Given the description of an element on the screen output the (x, y) to click on. 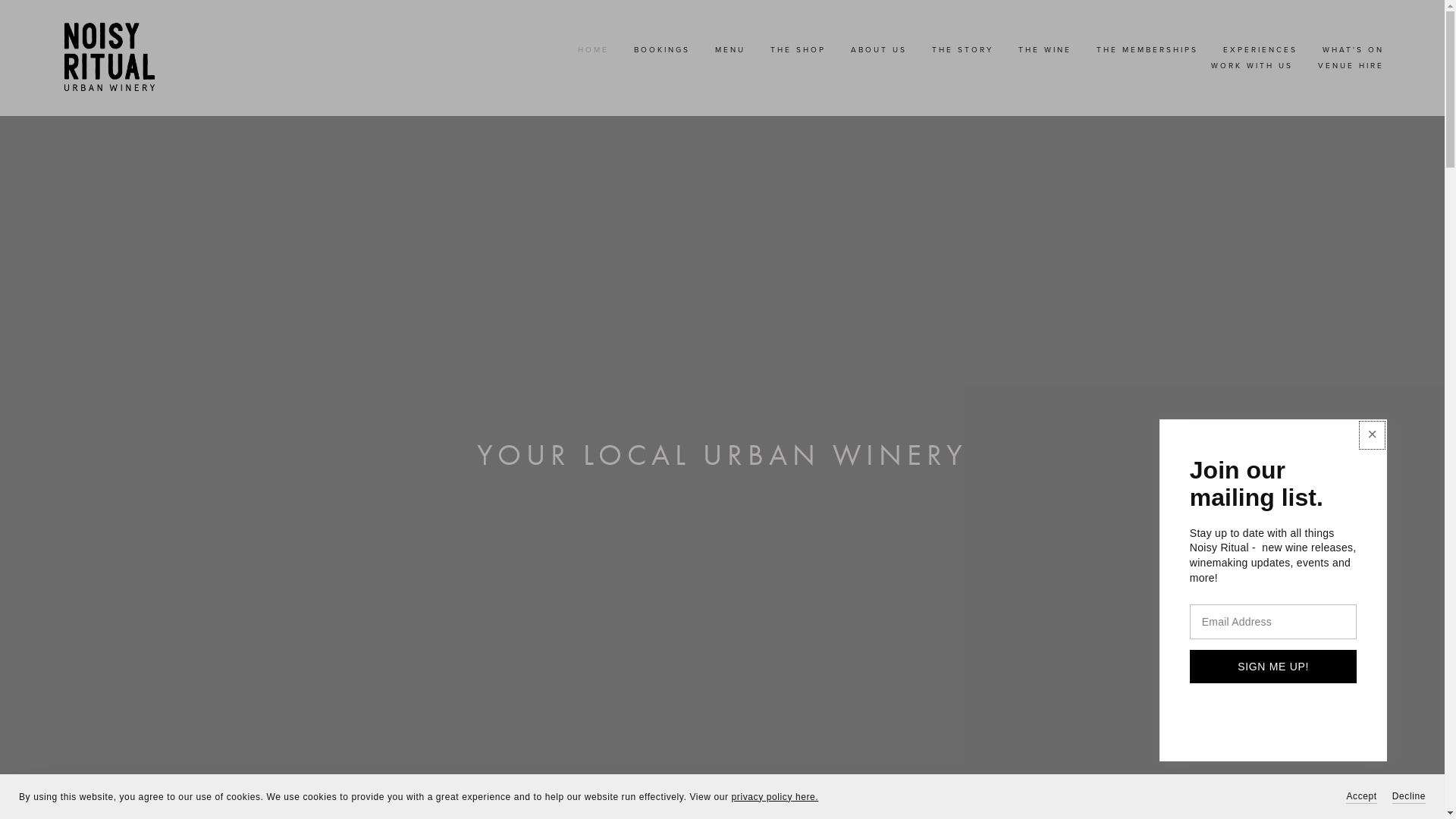
ABOUT US Element type: text (878, 49)
SIGN ME UP! Element type: text (1272, 666)
VENUE HIRE Element type: text (1350, 64)
Accept Element type: text (1361, 796)
BOOKINGS Element type: text (661, 49)
THE STORY Element type: text (962, 49)
THE MEMBERSHIPS Element type: text (1147, 49)
THE SHOP Element type: text (797, 49)
HOME Element type: text (592, 49)
privacy policy here. Element type: text (775, 796)
EXPERIENCES Element type: text (1260, 49)
THE WINE Element type: text (1044, 49)
Decline Element type: text (1408, 796)
WORK WITH US Element type: text (1251, 64)
WHAT'S ON Element type: text (1352, 49)
MENU Element type: text (730, 49)
